Given the description of an element on the screen output the (x, y) to click on. 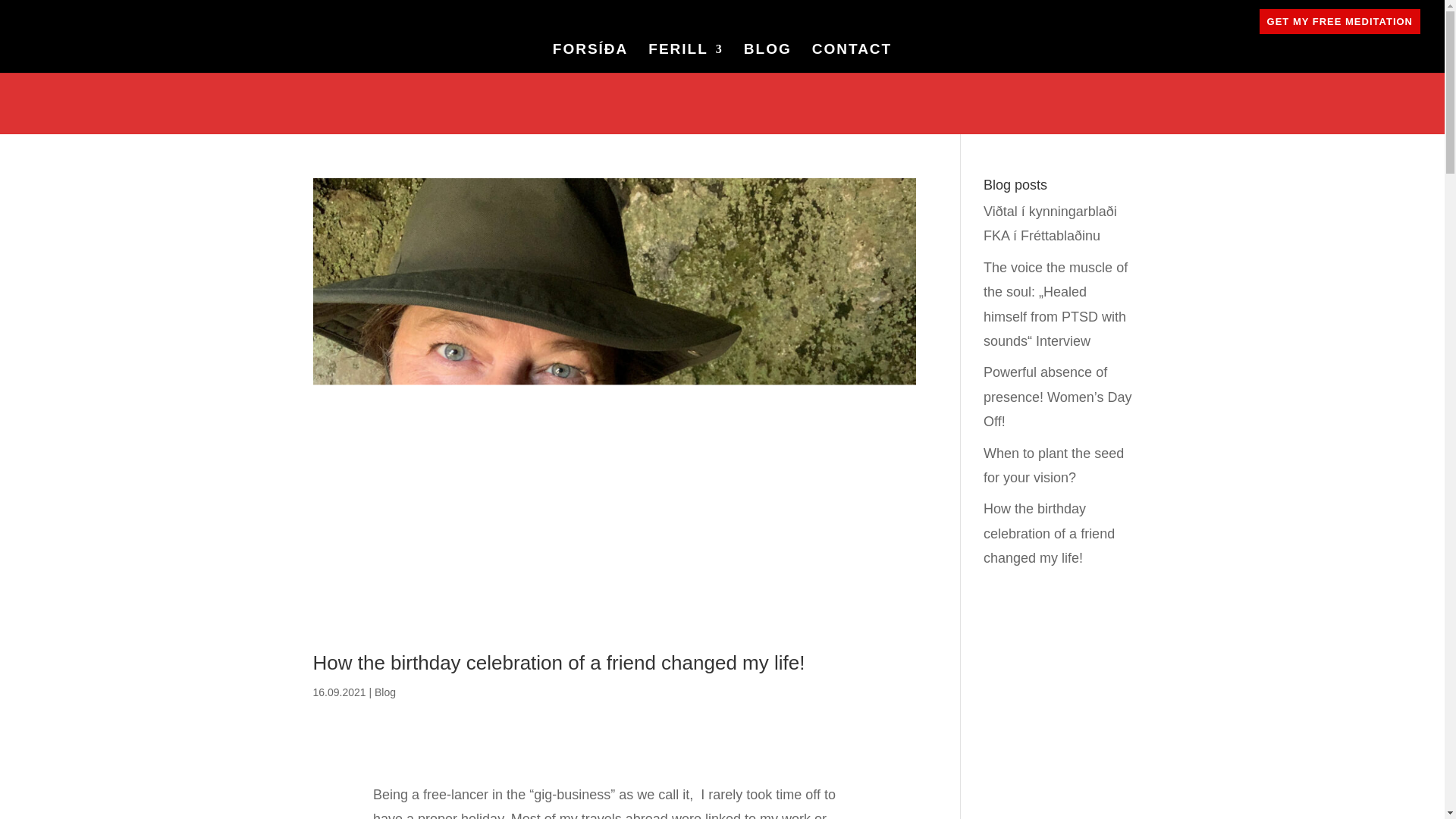
CONTACT (851, 58)
FERILL (685, 58)
Blog (385, 692)
When to plant the seed for your vision? (1054, 465)
How the birthday celebration of a friend changed my life! (1049, 533)
GET MY FREE MEDITATION (1339, 21)
How the birthday celebration of a friend changed my life! (559, 662)
BLOG (768, 58)
